Given the description of an element on the screen output the (x, y) to click on. 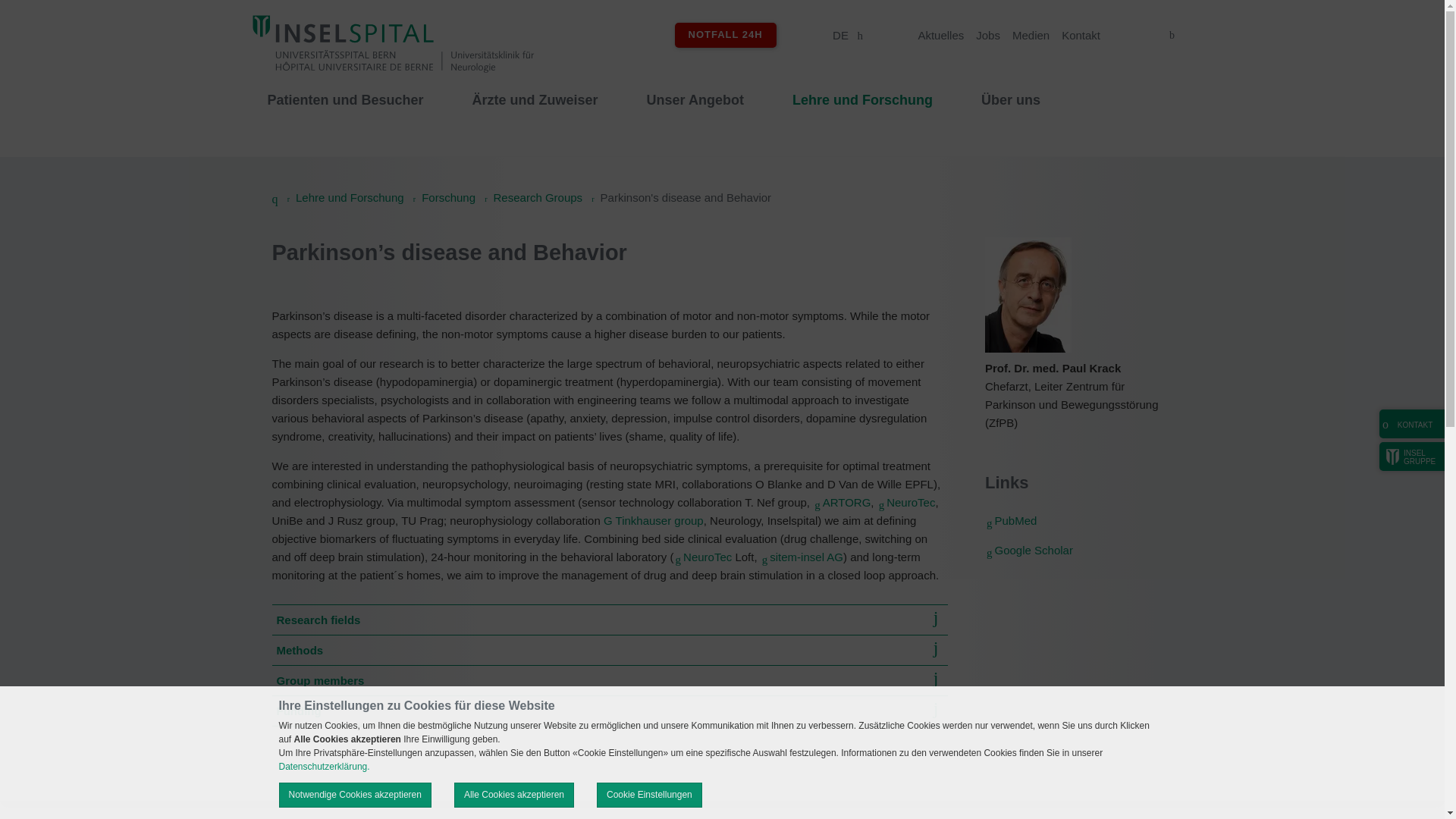
Suche (1171, 35)
NOTFALL 24H (725, 34)
Kontakt (1080, 34)
Unser Angebot (695, 115)
Jobs (987, 34)
Patienten und Besucher (344, 115)
Medien (1030, 34)
Aktuelles (940, 34)
